Given the description of an element on the screen output the (x, y) to click on. 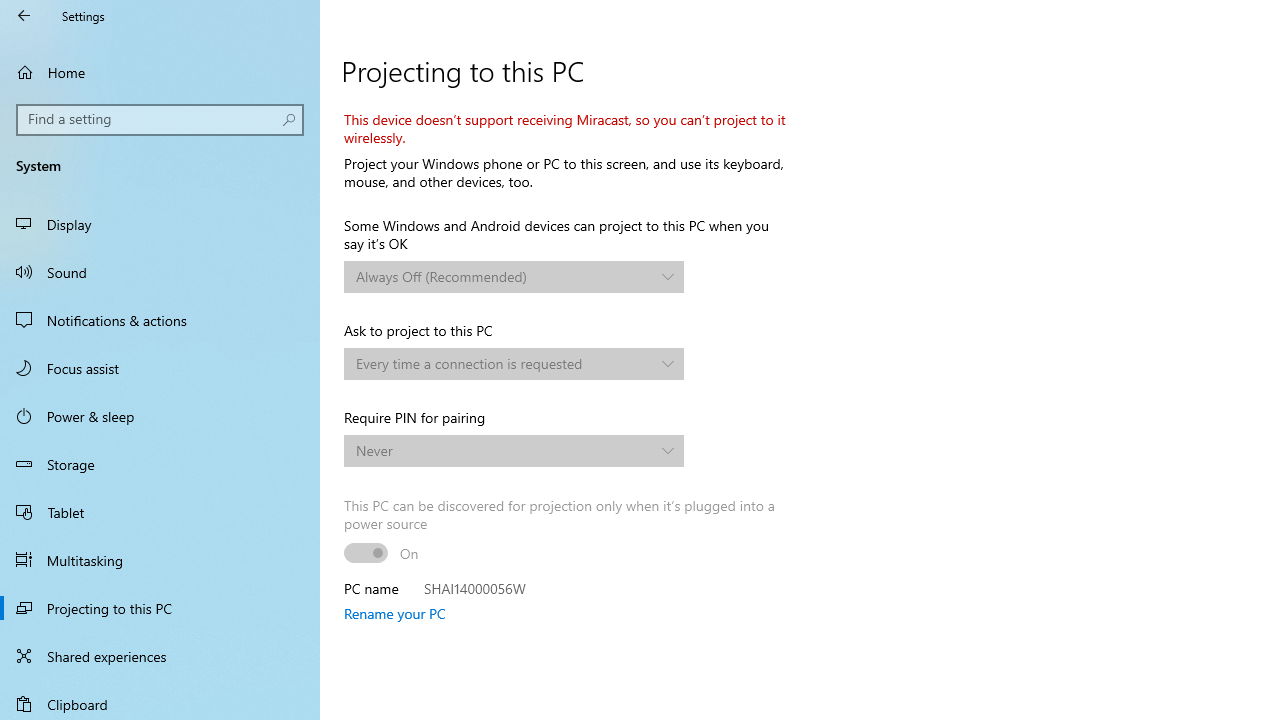
Rename your PC (394, 613)
Every time a connection is requested (503, 363)
Require PIN for pairing (513, 450)
Back (24, 15)
Power & sleep (160, 415)
Display (160, 223)
Ask to project to this PC (513, 363)
Shared experiences (160, 655)
Projecting to this PC (160, 607)
Search box, Find a setting (160, 119)
Home (160, 71)
Tablet (160, 511)
Storage (160, 463)
